Given the description of an element on the screen output the (x, y) to click on. 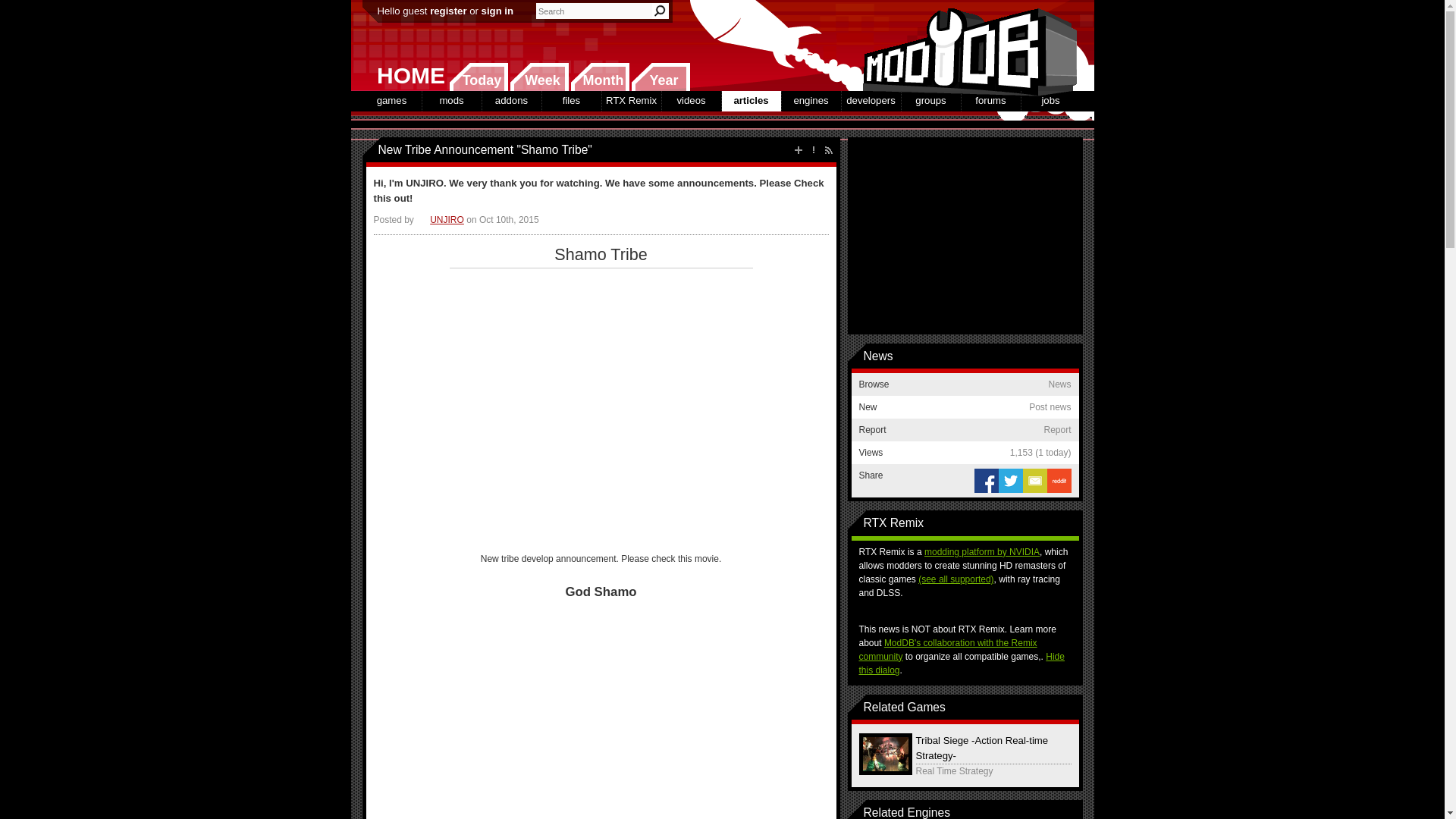
files (570, 100)
Today (478, 76)
register (447, 10)
New this month (599, 76)
RTX Remix (631, 100)
addons (511, 100)
New this week (539, 76)
Year (660, 76)
Report (813, 150)
Search (660, 10)
Article Manager (440, 219)
sign in (497, 10)
Post news (797, 150)
games (392, 100)
RSS (828, 150)
